Given the description of an element on the screen output the (x, y) to click on. 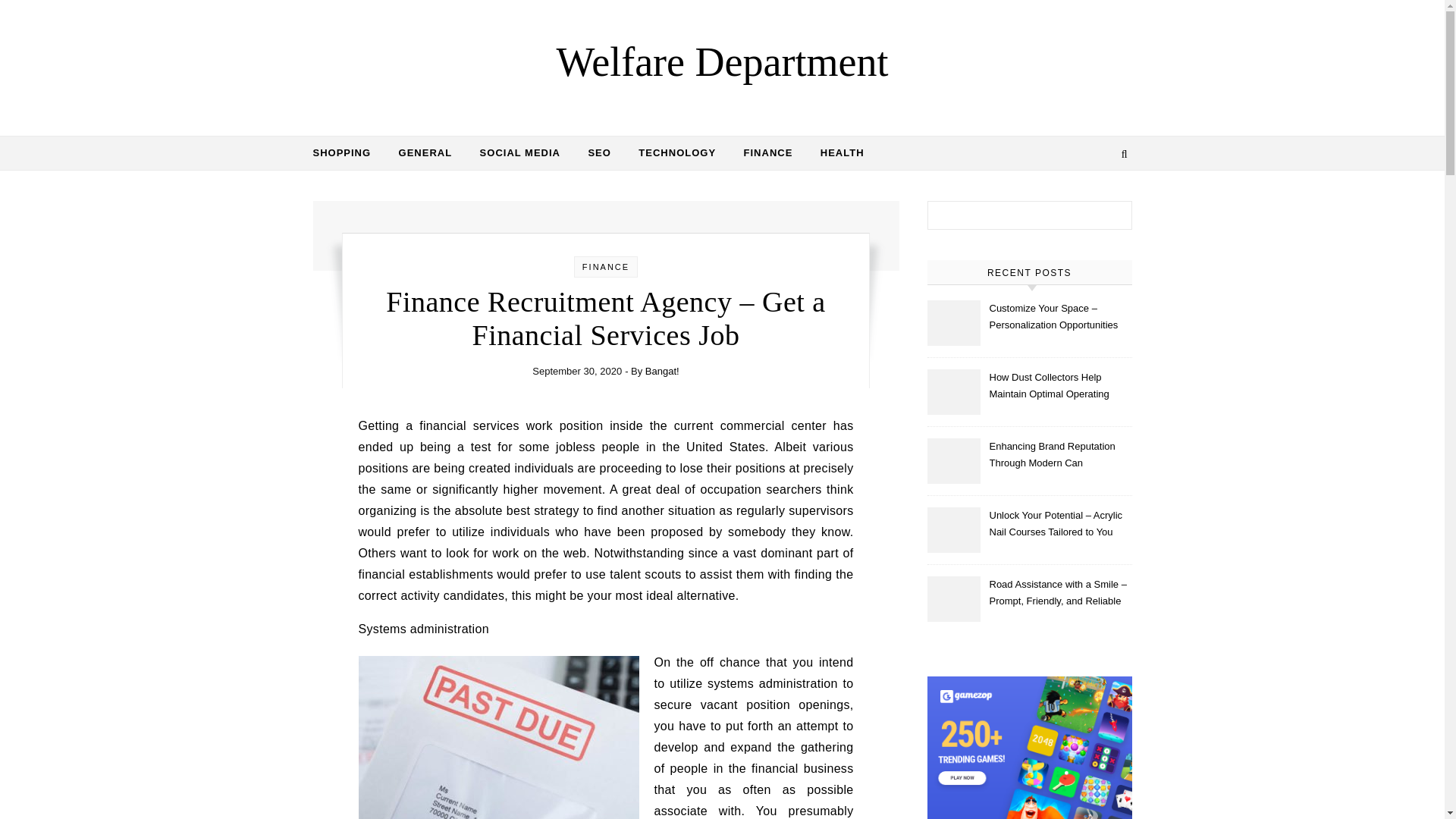
Welfare Department (722, 61)
SHOPPING (347, 152)
GENERAL (425, 152)
FINANCE (605, 266)
SEO (599, 152)
Posts by Bangat! (662, 370)
HEALTH (836, 152)
SOCIAL MEDIA (519, 152)
TECHNOLOGY (677, 152)
Bangat! (662, 370)
Search (1104, 217)
FINANCE (768, 152)
